Given the description of an element on the screen output the (x, y) to click on. 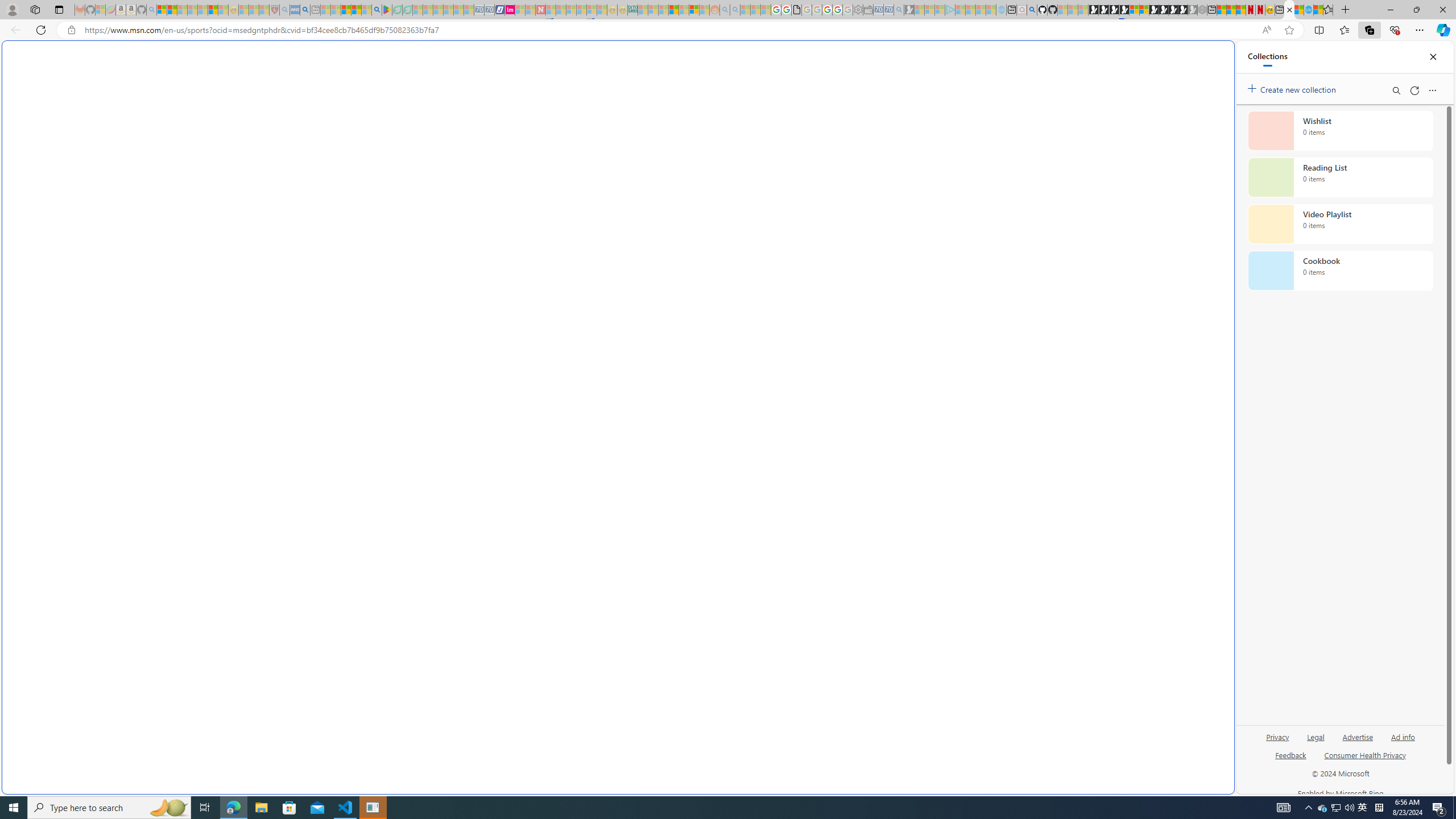
Video Playlist collection, 0 items (1339, 223)
